Given the description of an element on the screen output the (x, y) to click on. 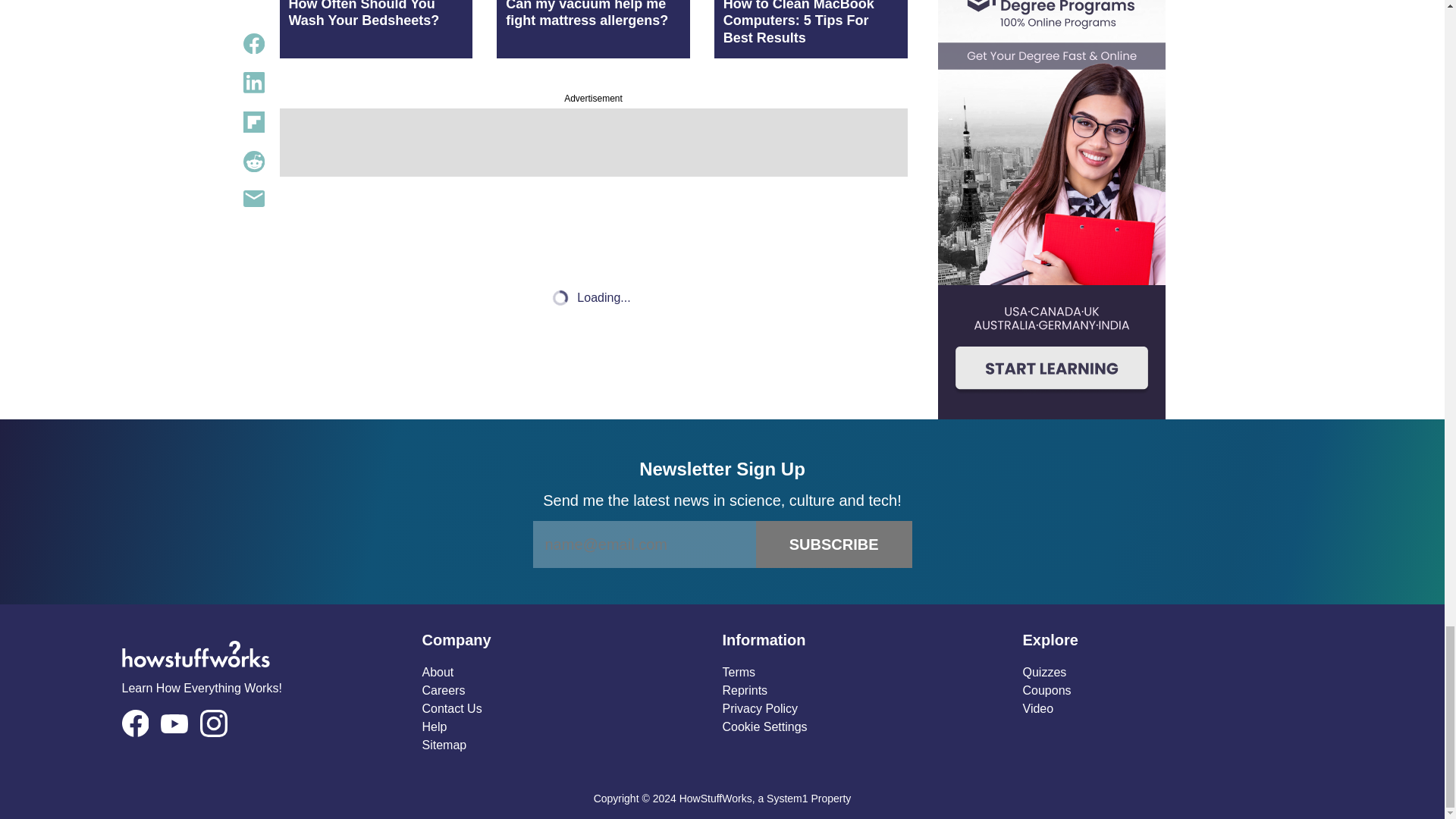
Visit HowStuffWorks on Instagram (213, 723)
Visit HowStuffWorks on YouTube (173, 723)
Visit HowStuffWorks on Facebook (134, 723)
Subscribe (833, 544)
